Given the description of an element on the screen output the (x, y) to click on. 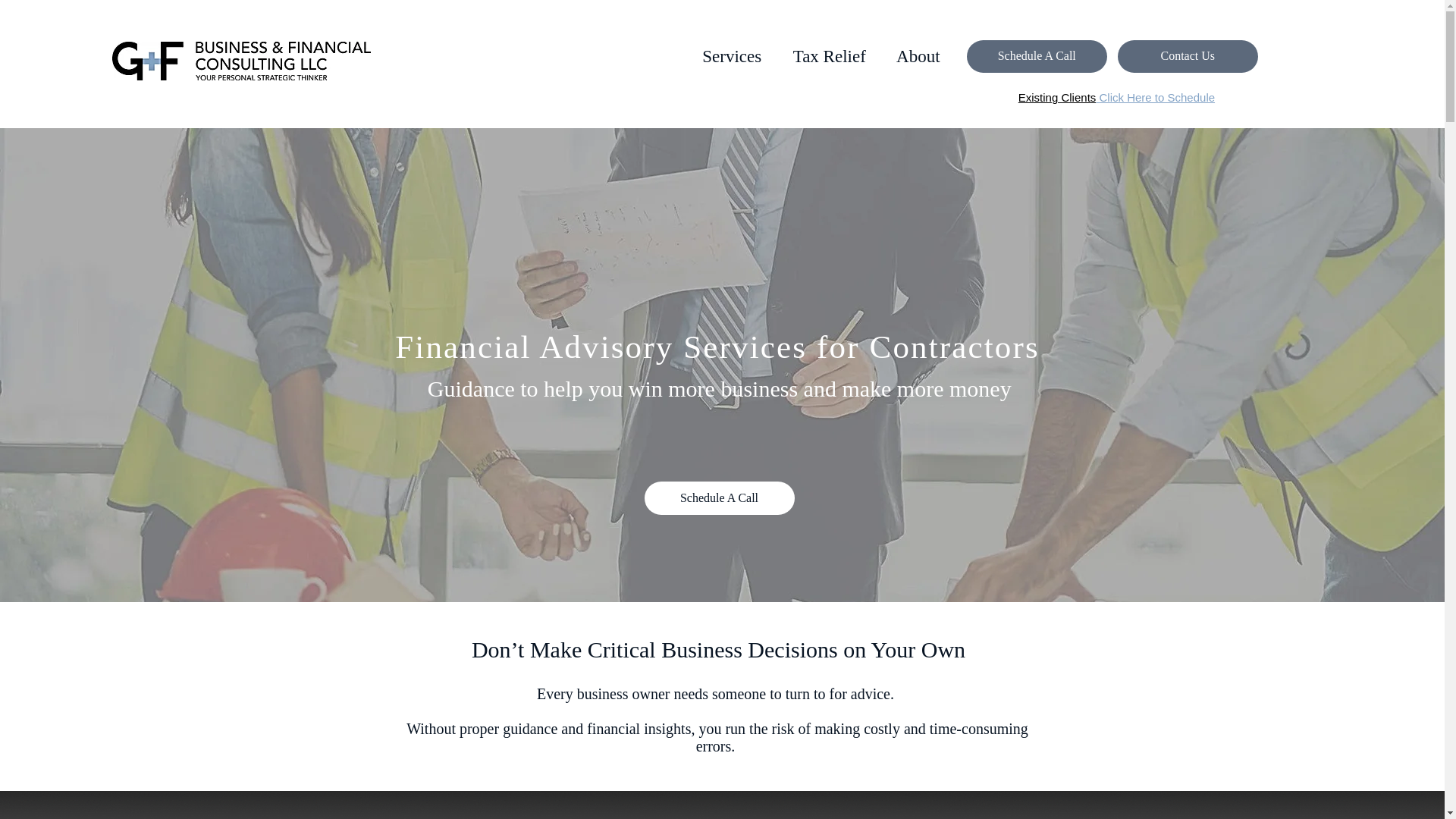
Contact Us (1187, 56)
Schedule A Call (1036, 56)
Tax Relief (829, 56)
Services (731, 56)
Existing Clients Click Here to Schedule (1115, 97)
About (918, 56)
Schedule A Call (719, 498)
